Given the description of an element on the screen output the (x, y) to click on. 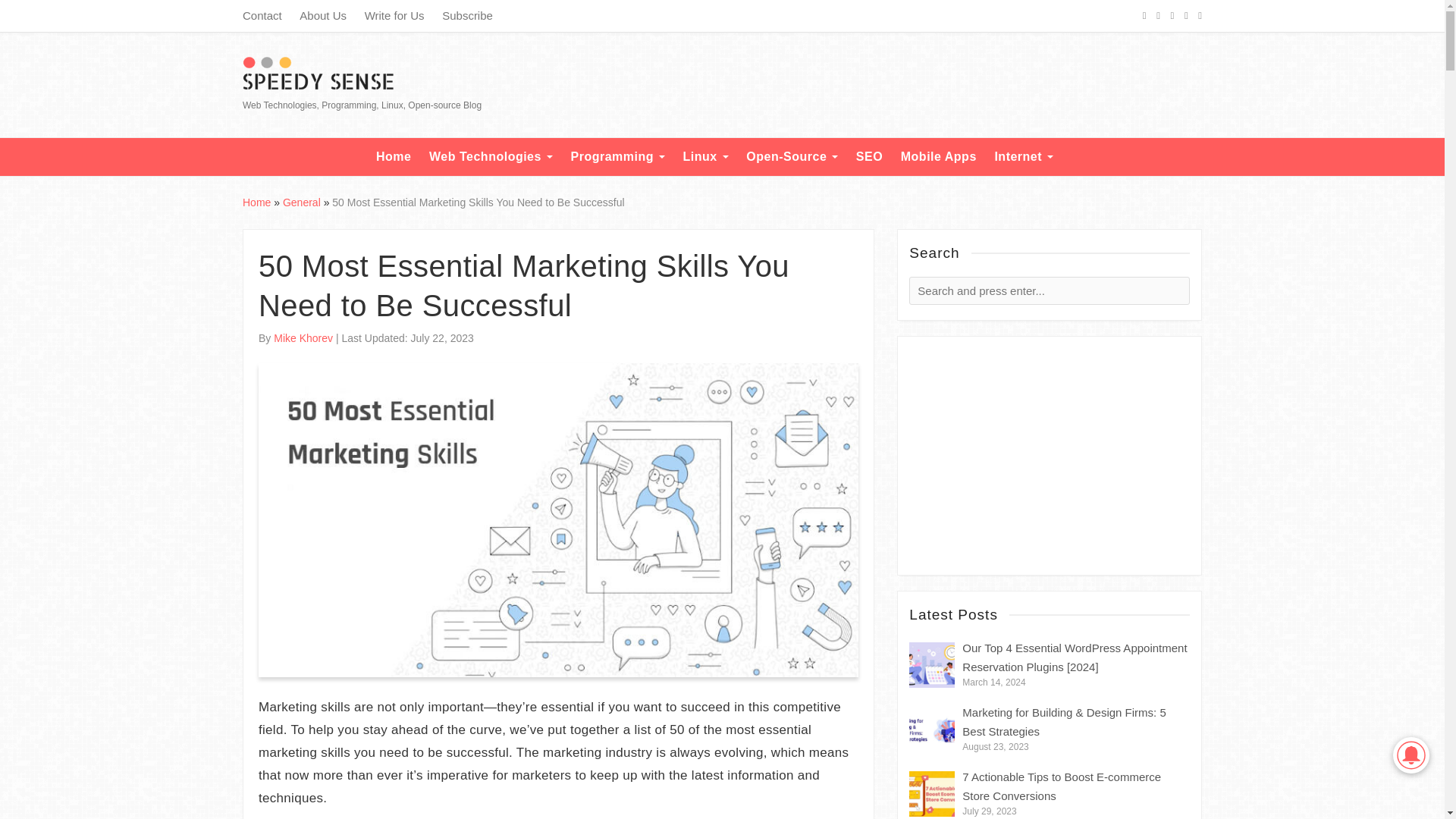
Web Technologies (491, 157)
Write for Us (395, 15)
Internet (1023, 157)
Advertisement (925, 84)
Open-Source (791, 157)
Home (256, 202)
Contact (262, 15)
Write for Us (395, 15)
About Us (322, 15)
Home (392, 157)
